Given the description of an element on the screen output the (x, y) to click on. 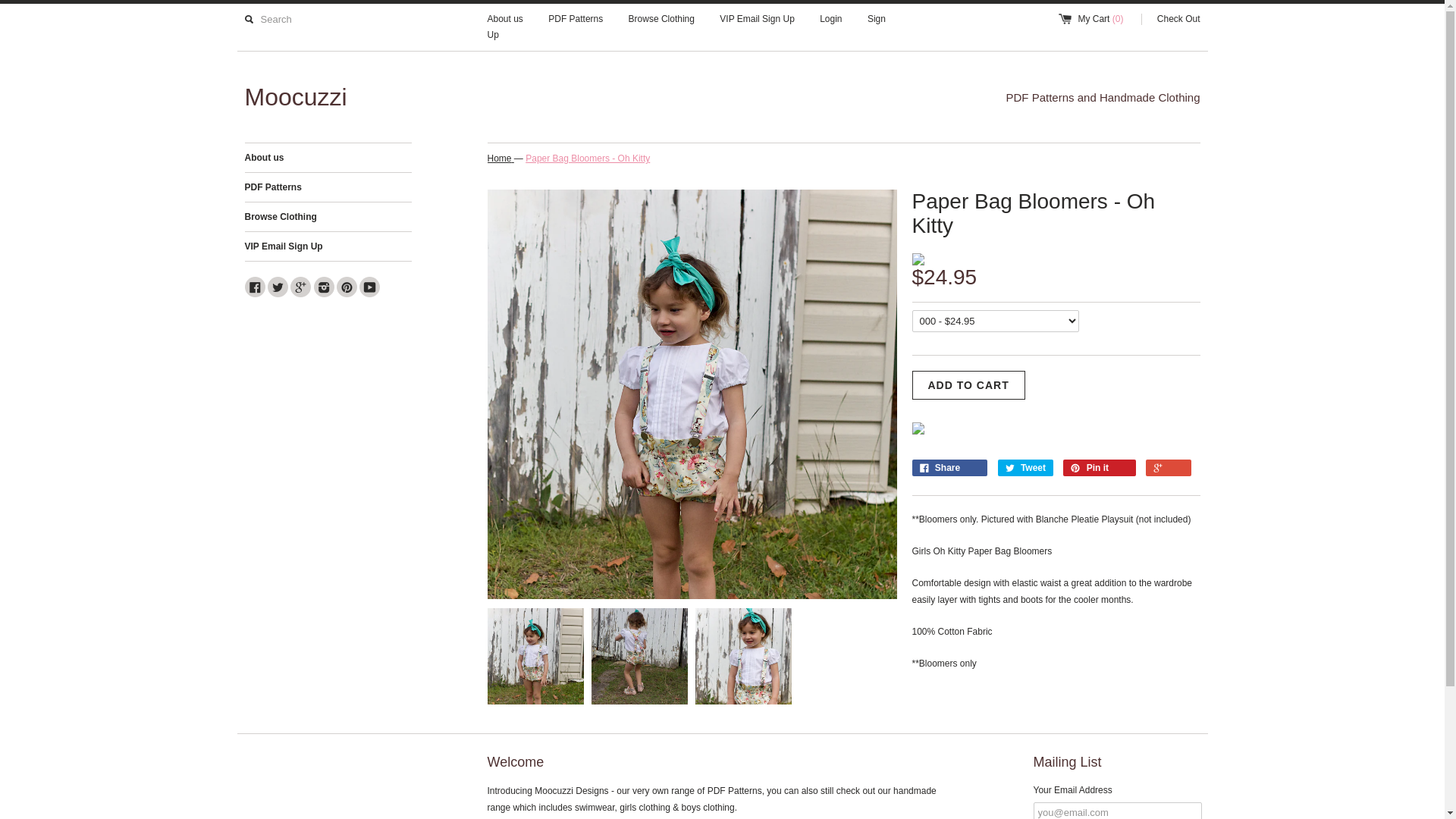
Login Element type: text (830, 19)
Moocuzzi Element type: text (482, 96)
Pin it Element type: text (1099, 467)
Sign Up Element type: text (685, 26)
About us Element type: text (327, 157)
Facebook Element type: text (254, 287)
Pinterest Element type: text (346, 287)
Twitter Element type: text (277, 287)
Youtube Element type: text (369, 287)
Browse Clothing Element type: text (661, 19)
Browse Clothing Element type: text (327, 216)
Paper Bag Bloomers - Oh Kitty Element type: text (587, 158)
My Cart (0) Element type: text (1098, 19)
Google Plus Element type: text (300, 287)
PDF Patterns Element type: text (575, 19)
Home Element type: text (499, 158)
About us Element type: text (504, 19)
VIP Email Sign Up Element type: text (327, 246)
Check Out Element type: text (1170, 19)
PDF Patterns Element type: text (327, 186)
Instagram Element type: text (323, 287)
VIP Email Sign Up Element type: text (756, 19)
Share Element type: text (949, 467)
Add to Cart Element type: text (967, 384)
Tweet Element type: text (1025, 467)
